Given the description of an element on the screen output the (x, y) to click on. 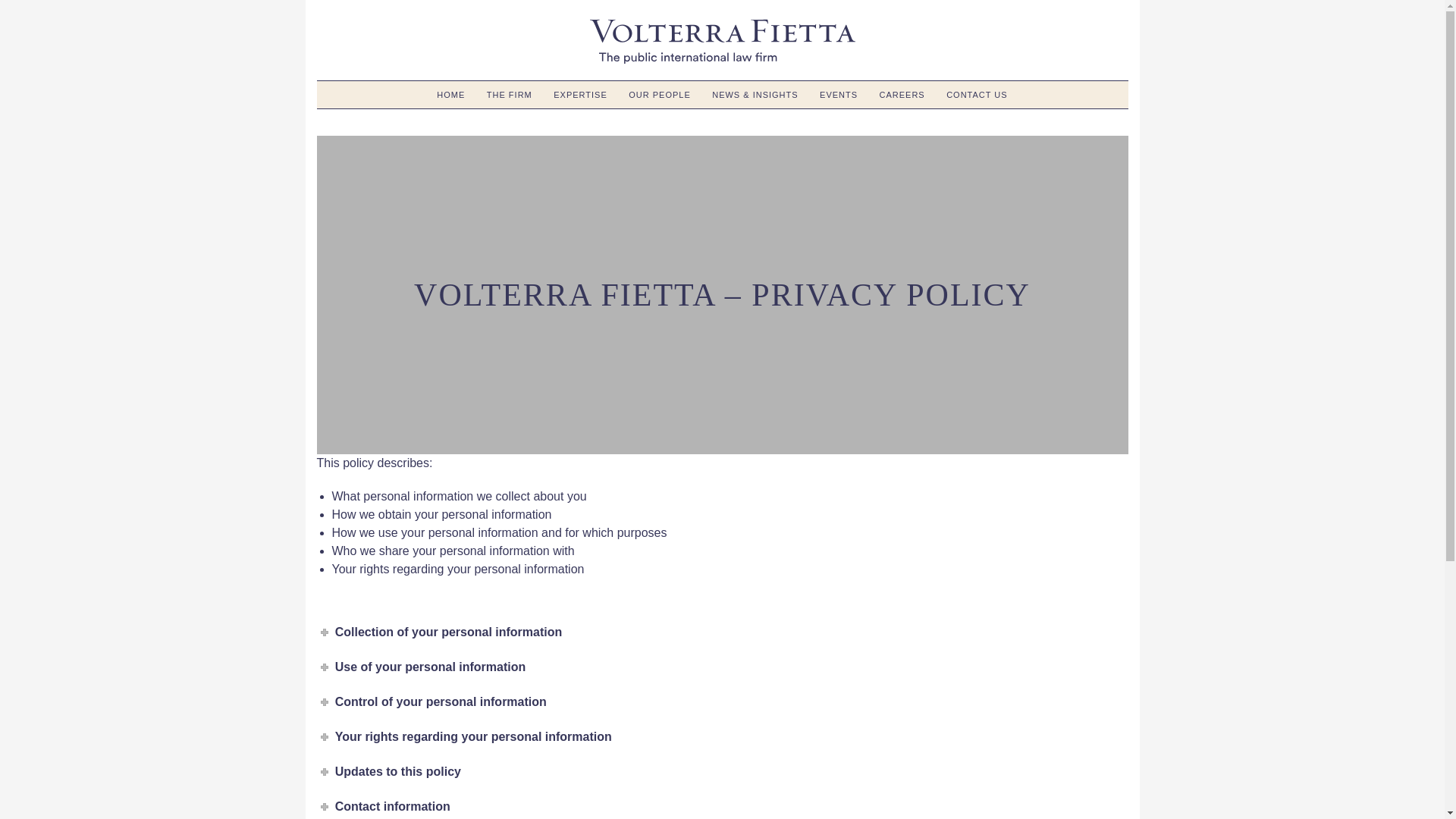
OUR PEOPLE (659, 94)
CONTACT US (976, 94)
THE FIRM (509, 94)
CAREERS (902, 94)
EXPERTISE (580, 94)
HOME (450, 94)
EVENTS (838, 94)
